Given the description of an element on the screen output the (x, y) to click on. 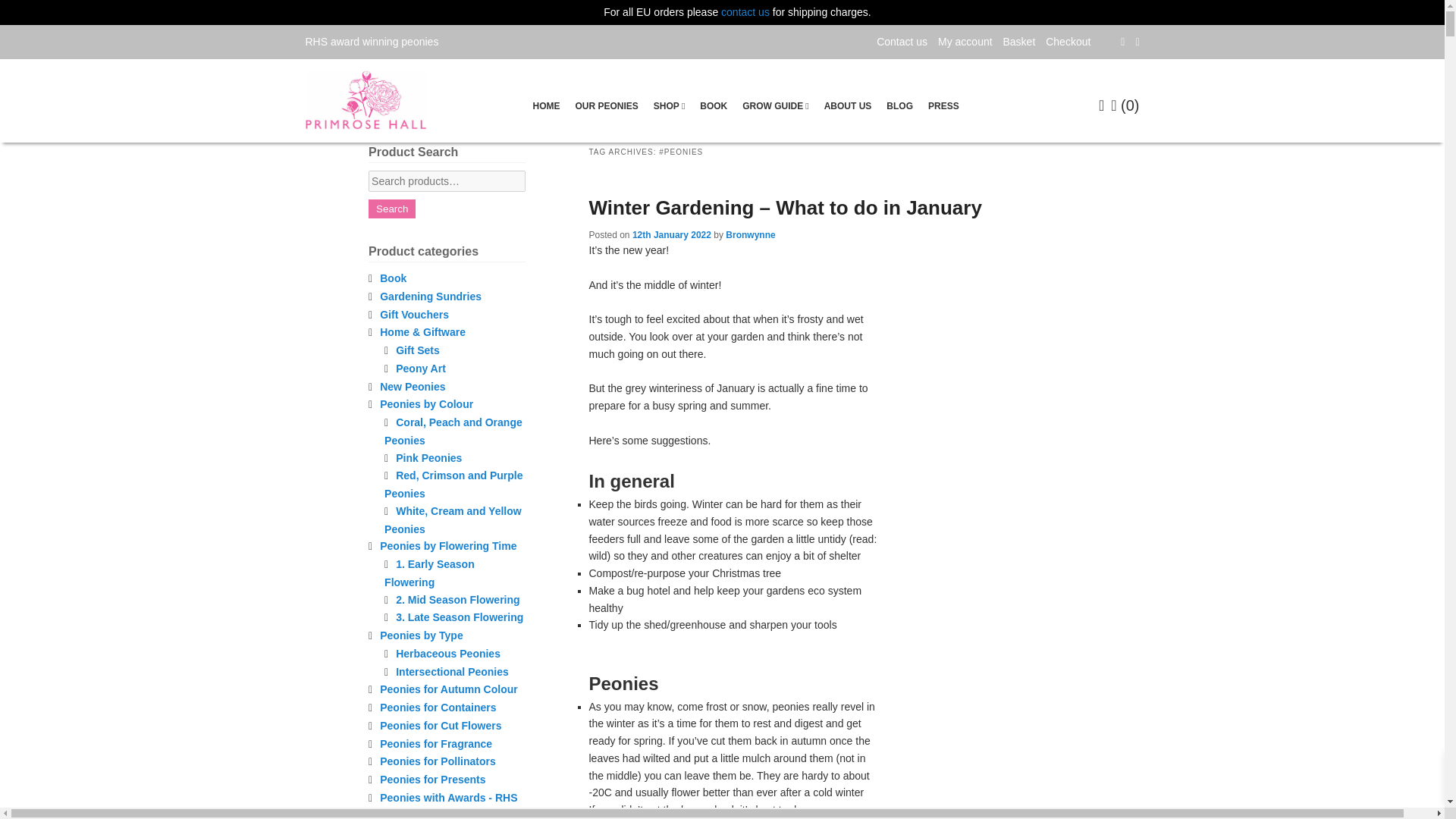
contact us (745, 11)
BOOK (714, 105)
12th January 2022 (671, 235)
My account (964, 41)
ABOUT US (847, 105)
PRESS (943, 105)
Basket (1019, 41)
Bronwynne (749, 235)
Contact us (901, 41)
GROW GUIDE (775, 105)
